Given the description of an element on the screen output the (x, y) to click on. 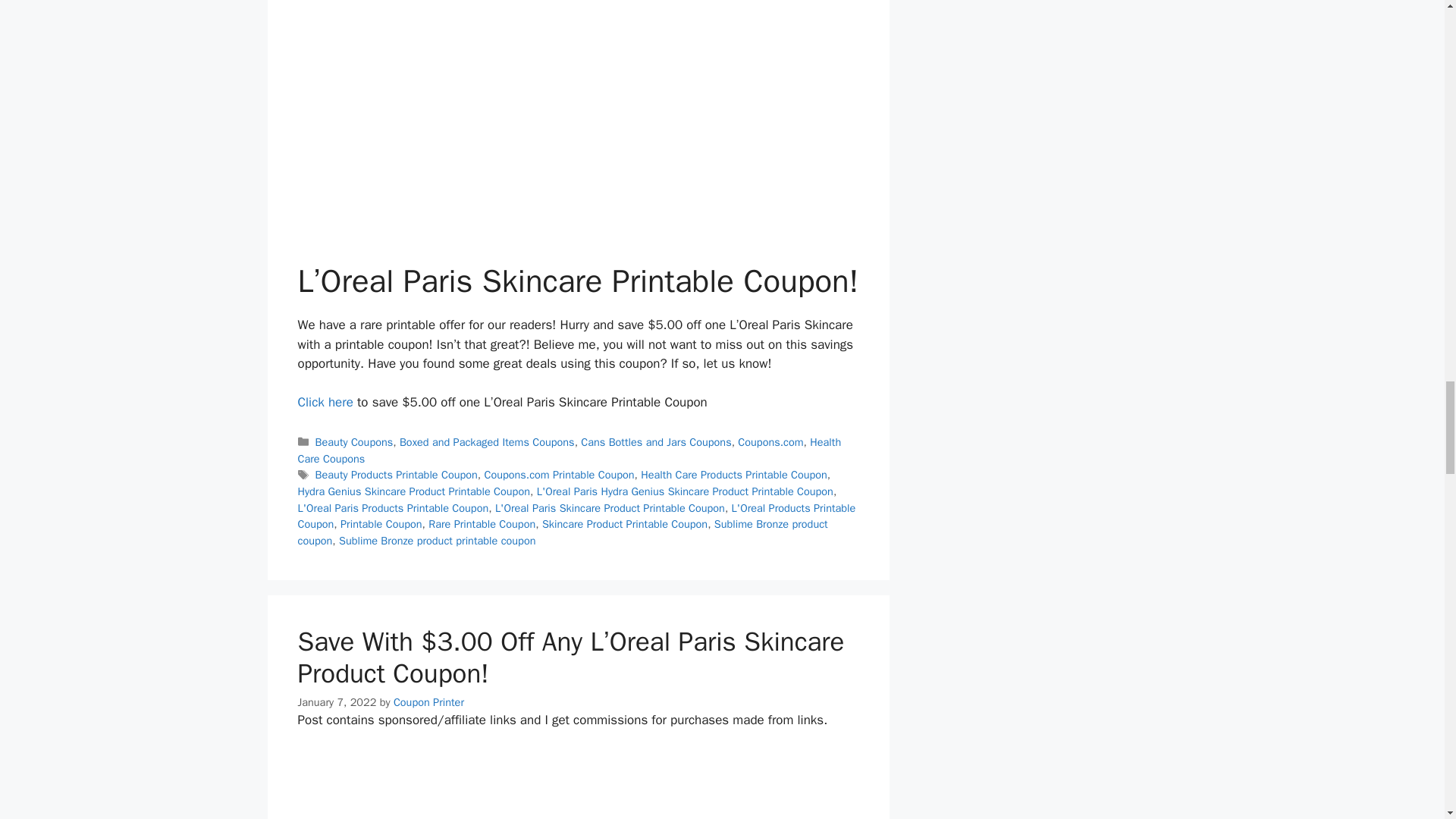
View all posts by Coupon Printer (428, 702)
